Given the description of an element on the screen output the (x, y) to click on. 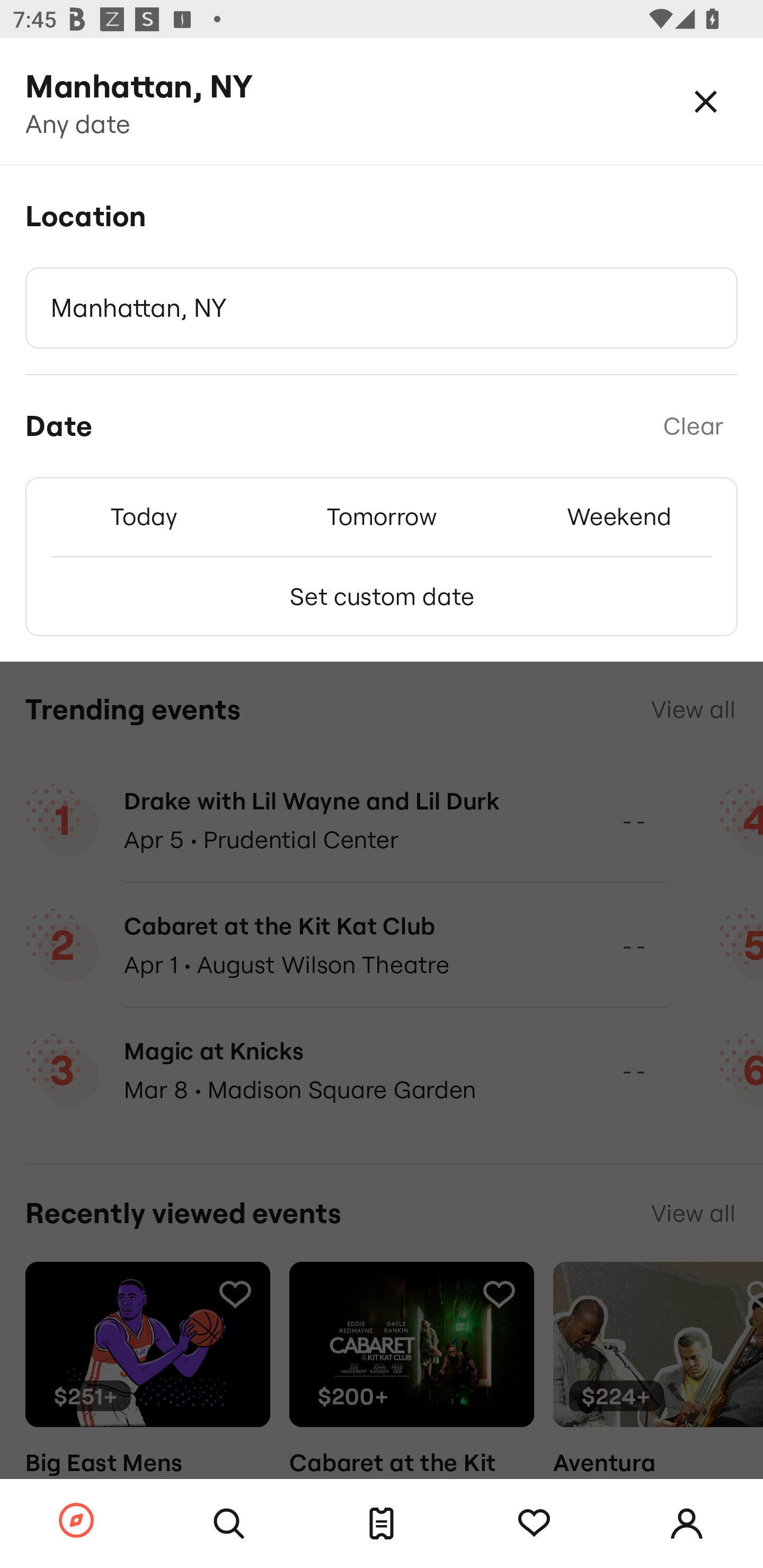
Close (705, 100)
Manhattan, NY (381, 308)
Clear (693, 426)
Today (143, 516)
Tomorrow (381, 516)
Weekend (618, 516)
Set custom date (381, 596)
Browse (76, 1521)
Search (228, 1523)
Tickets (381, 1523)
Tracking (533, 1523)
Account (686, 1523)
